Given the description of an element on the screen output the (x, y) to click on. 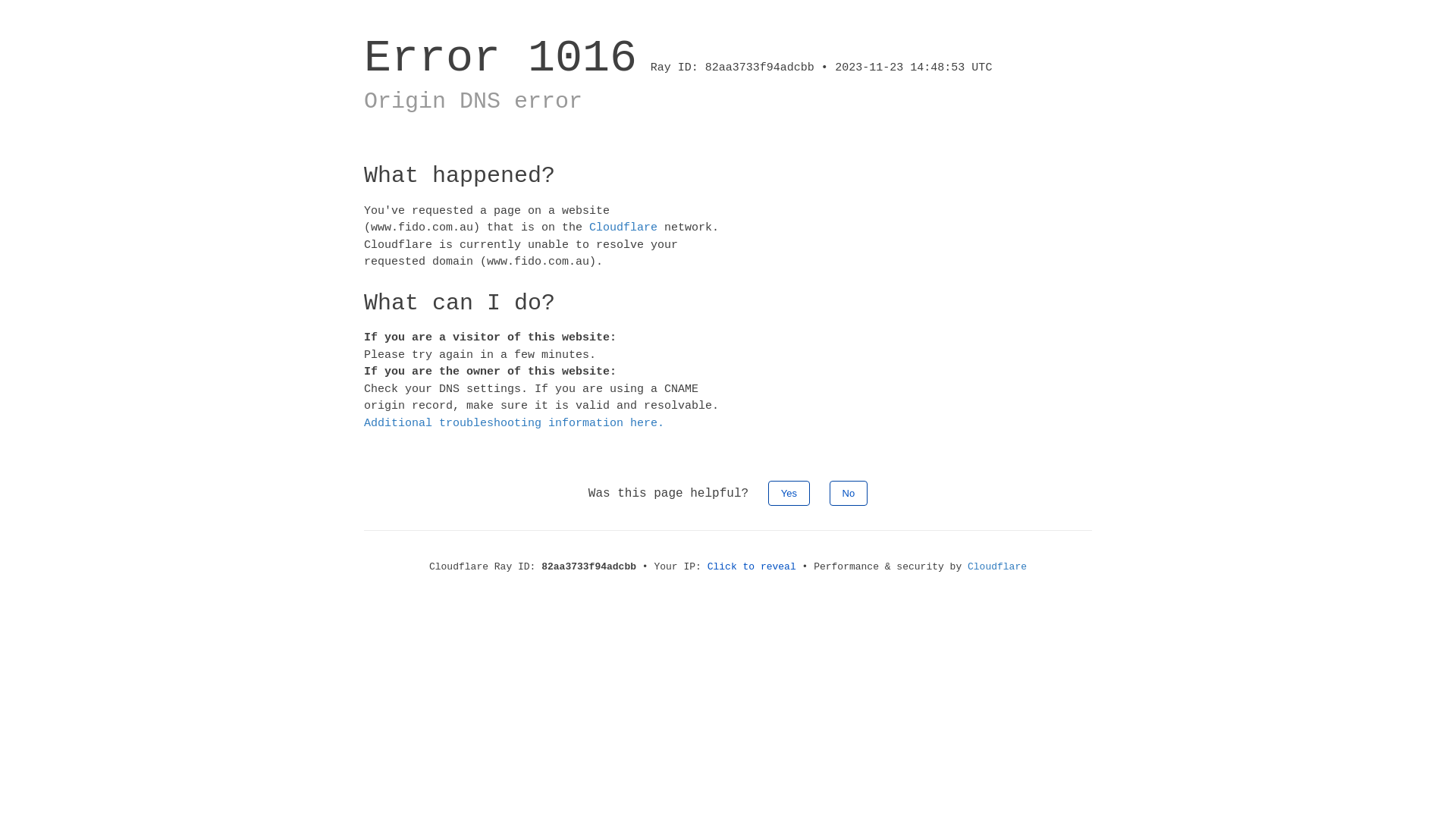
No Element type: text (848, 492)
Yes Element type: text (788, 492)
Additional troubleshooting information here. Element type: text (514, 423)
Cloudflare Element type: text (623, 227)
Cloudflare Element type: text (996, 566)
Click to reveal Element type: text (751, 566)
